Given the description of an element on the screen output the (x, y) to click on. 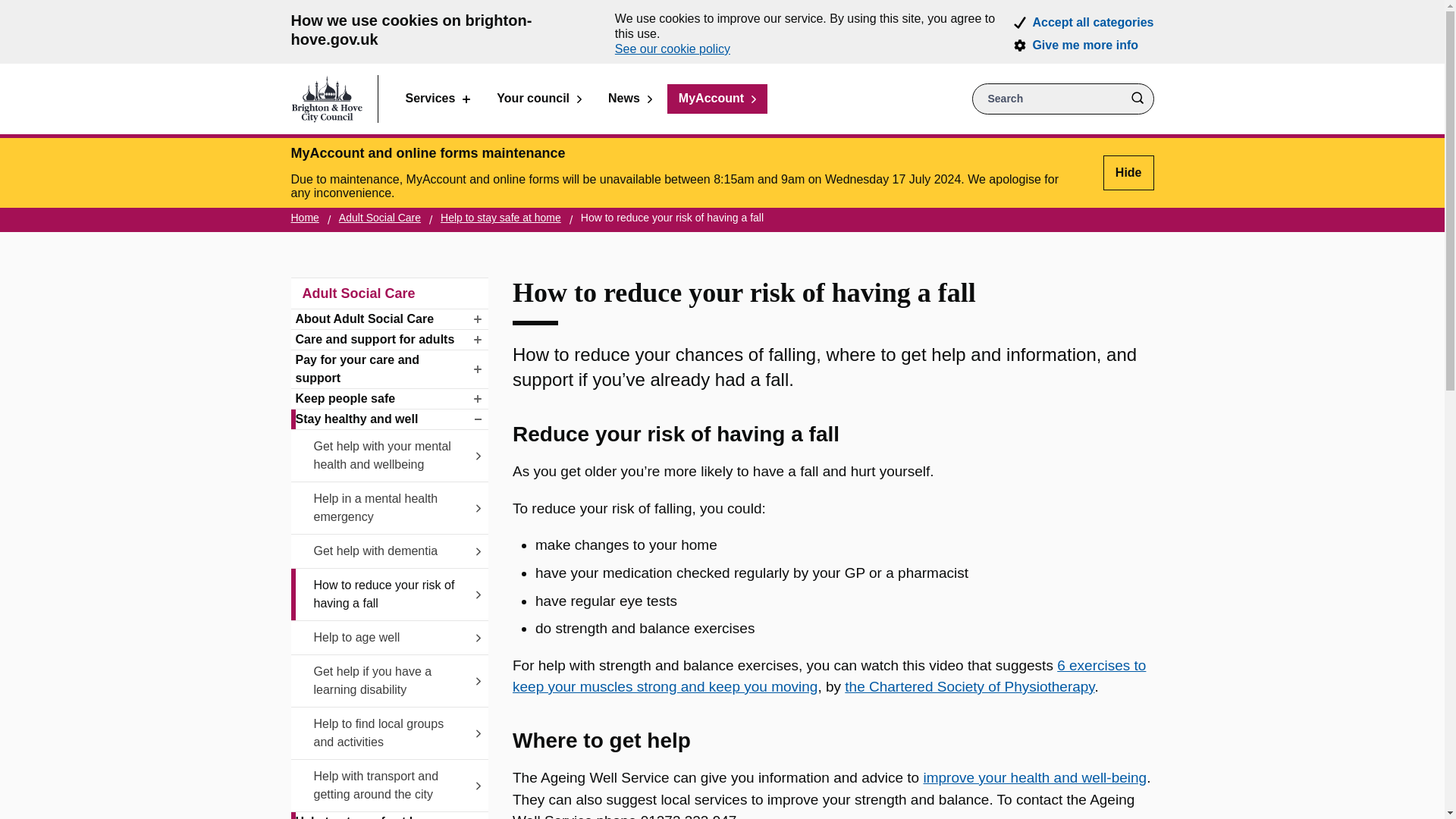
News (629, 98)
Accept all categories (1092, 22)
Enter the terms you wish to search for. (1063, 98)
Give me more info (1085, 45)
Search (1137, 98)
MyAccount (716, 98)
Your council (538, 98)
See our cookie policy (672, 48)
Skip to main content (11, 11)
